Given the description of an element on the screen output the (x, y) to click on. 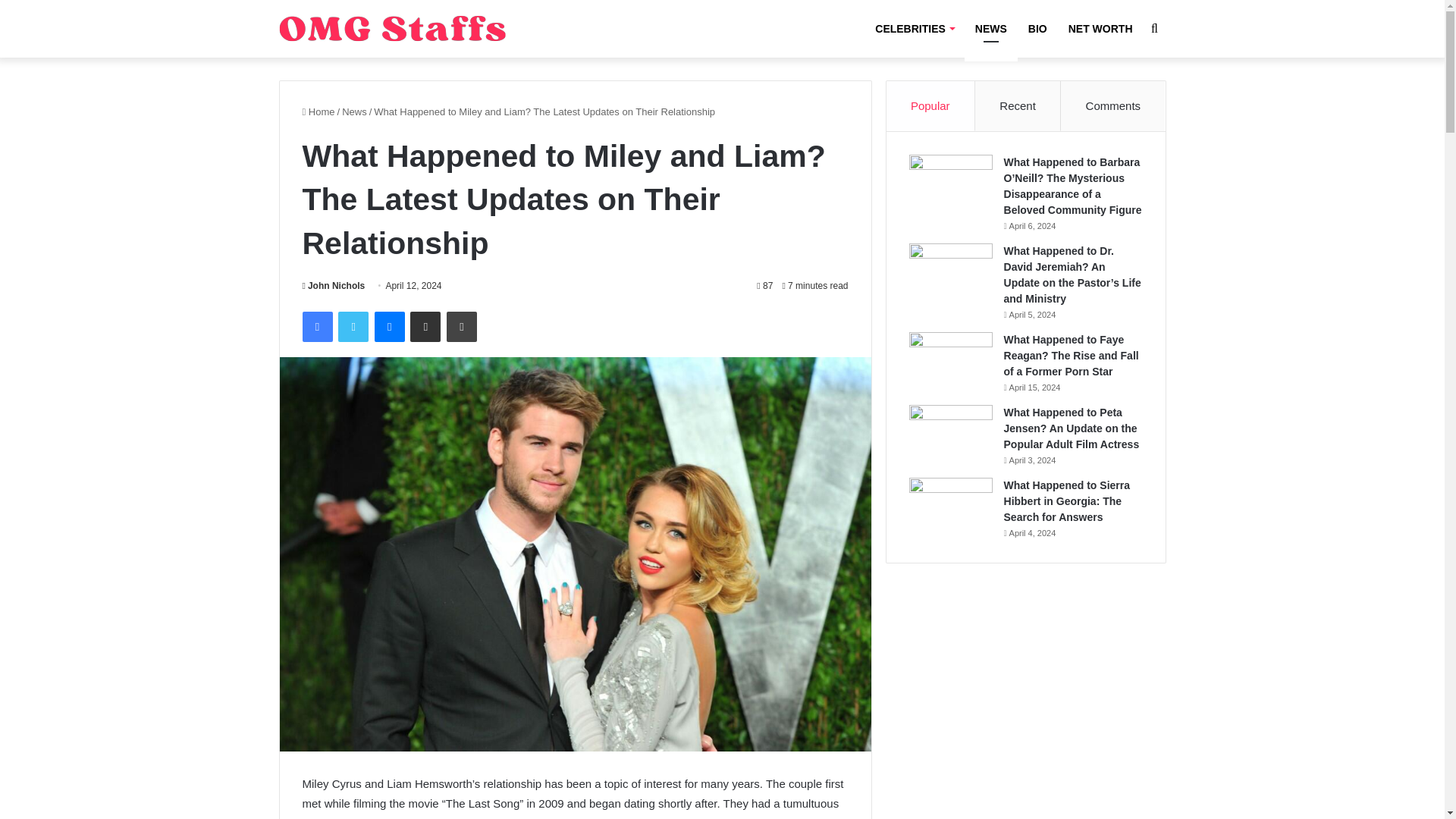
Messenger (389, 327)
John Nichols (333, 285)
OMG Staffs (392, 28)
Twitter (352, 327)
Share via Email (425, 327)
News (354, 111)
Home (317, 111)
Print (461, 327)
NEWS (990, 28)
John Nichols (333, 285)
NET WORTH (1100, 28)
Messenger (389, 327)
Facebook (316, 327)
Share via Email (425, 327)
Twitter (352, 327)
